Given the description of an element on the screen output the (x, y) to click on. 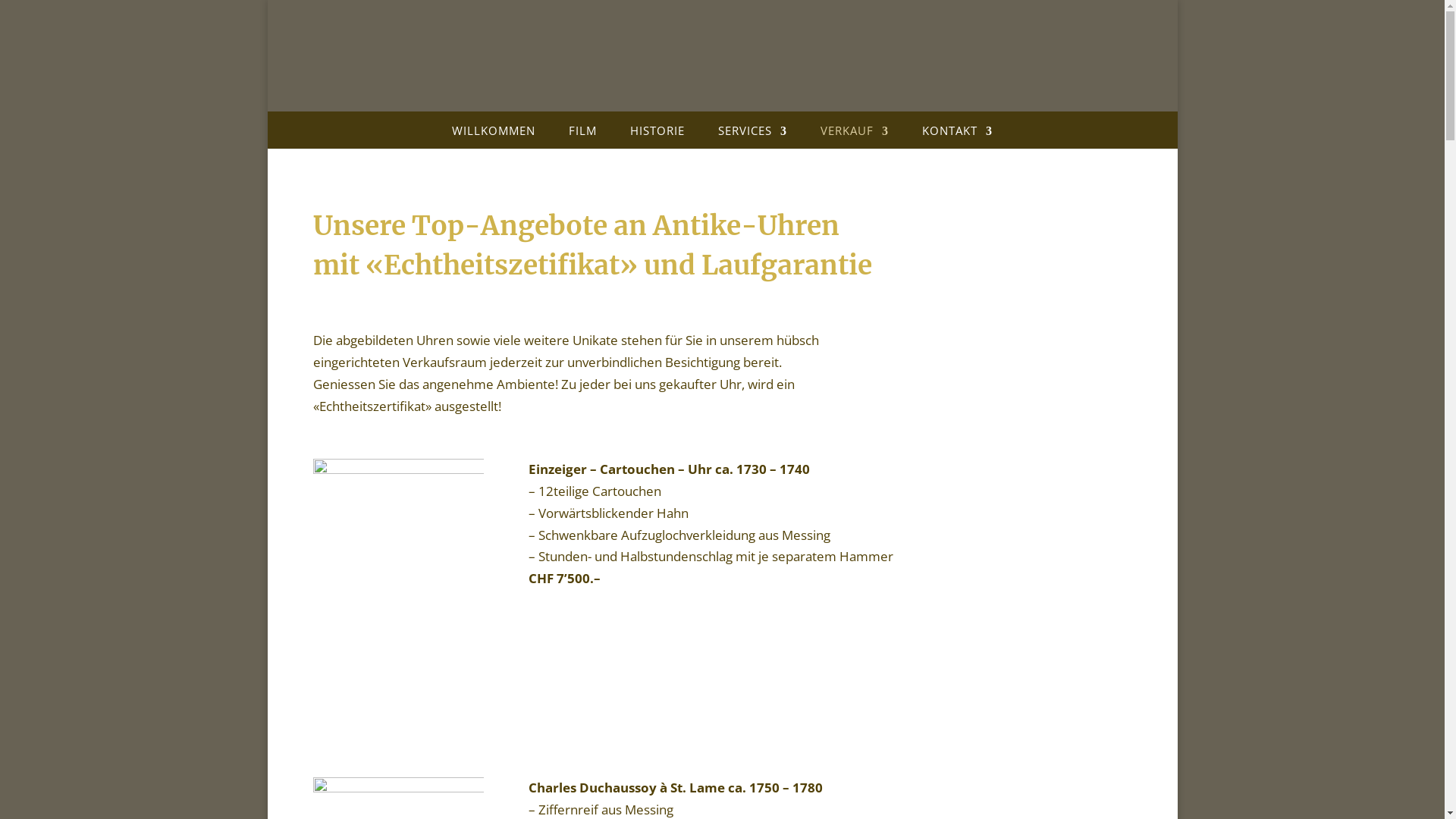
SERVICES Element type: text (752, 135)
WILLKOMMEN Element type: text (493, 135)
VERKAUF Element type: text (854, 135)
HISTORIE Element type: text (657, 135)
KONTAKT Element type: text (957, 135)
FILM Element type: text (582, 135)
